Given the description of an element on the screen output the (x, y) to click on. 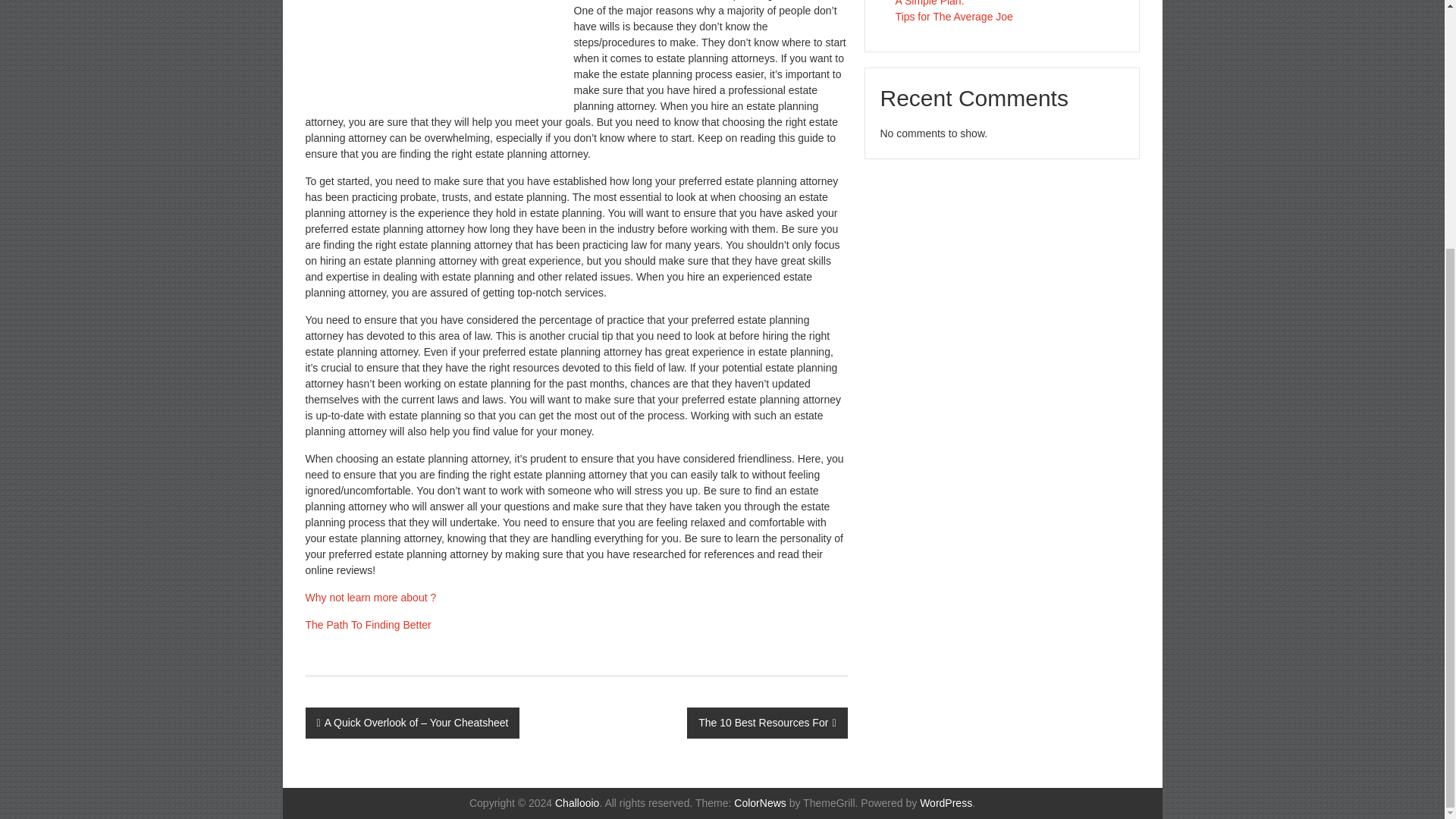
Tips for The Average Joe (953, 16)
A Simple Plan: (929, 3)
The Path To Finding Better (367, 624)
Why not learn more about ? (369, 597)
WordPress (946, 802)
WordPress (946, 802)
ColorNews (759, 802)
Challooio (576, 802)
The 10 Best Resources For (767, 722)
Challooio (576, 802)
